Given the description of an element on the screen output the (x, y) to click on. 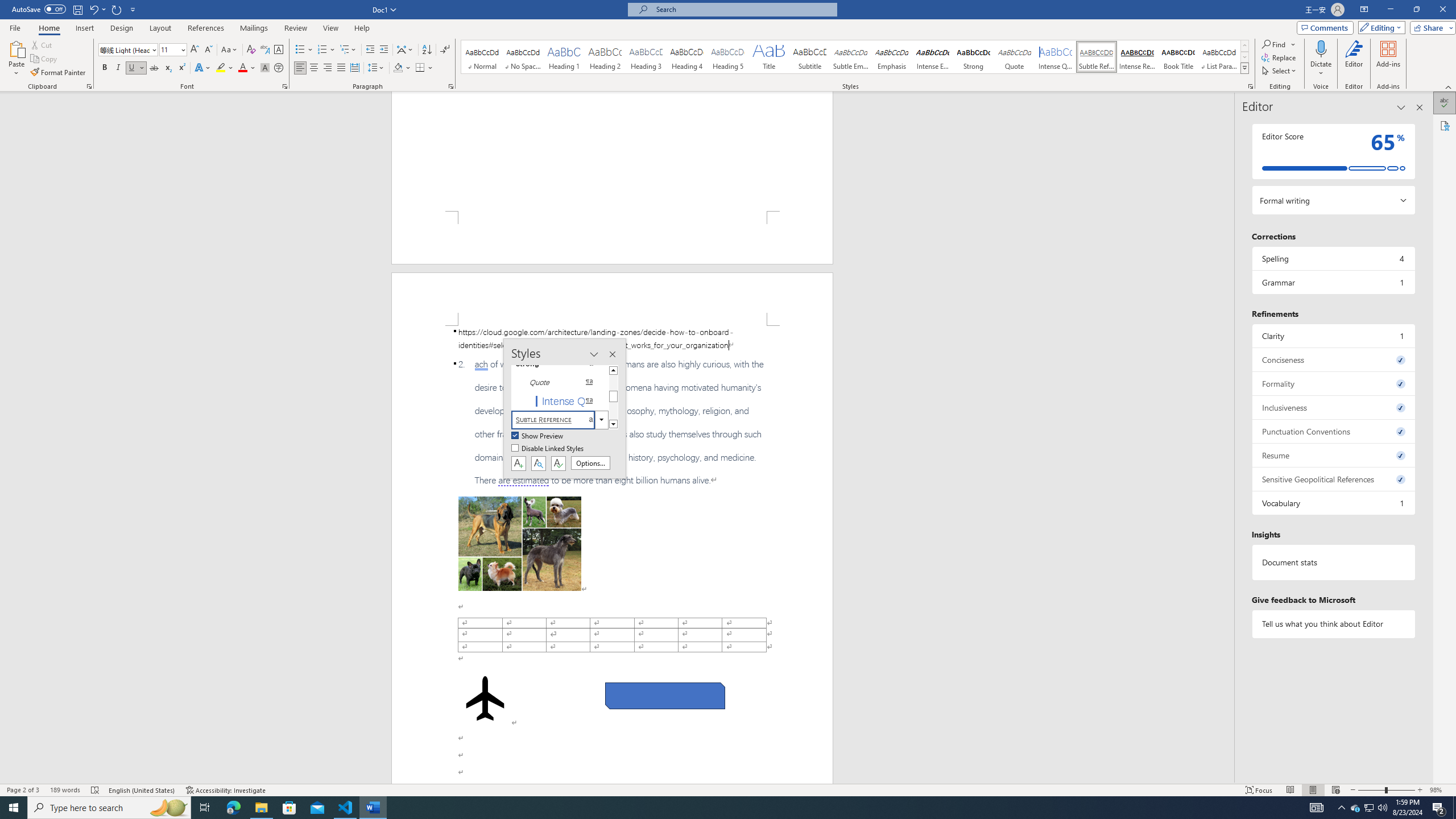
Character Border (278, 49)
Styles... (1250, 85)
Heading 2 (605, 56)
Cut (42, 44)
Character Shading (264, 67)
Intense Reference (1136, 56)
Microsoft search (742, 9)
Asian Layout (405, 49)
Intense Quote (1055, 56)
